Given the description of an element on the screen output the (x, y) to click on. 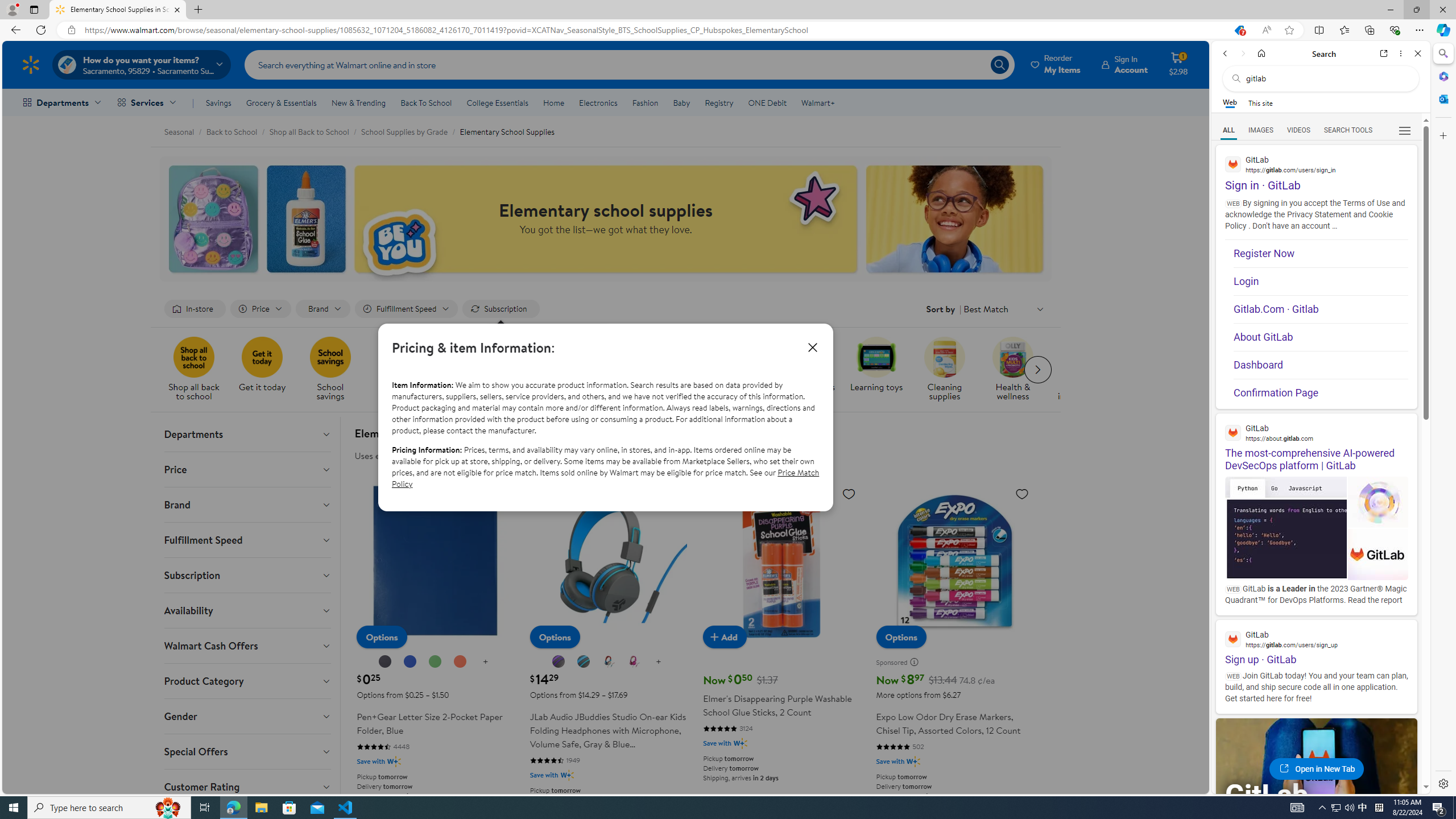
View details (1379, 555)
Register Now (1320, 253)
Search Filter, ALL (1228, 129)
Confirmation Page (1320, 392)
Global web icon (1232, 638)
Close dialog (812, 346)
Home (1261, 53)
Register Now (1320, 253)
Microsoft 365 (1442, 76)
Class: b_serphb (1404, 130)
Address and search bar (653, 29)
